Given the description of an element on the screen output the (x, y) to click on. 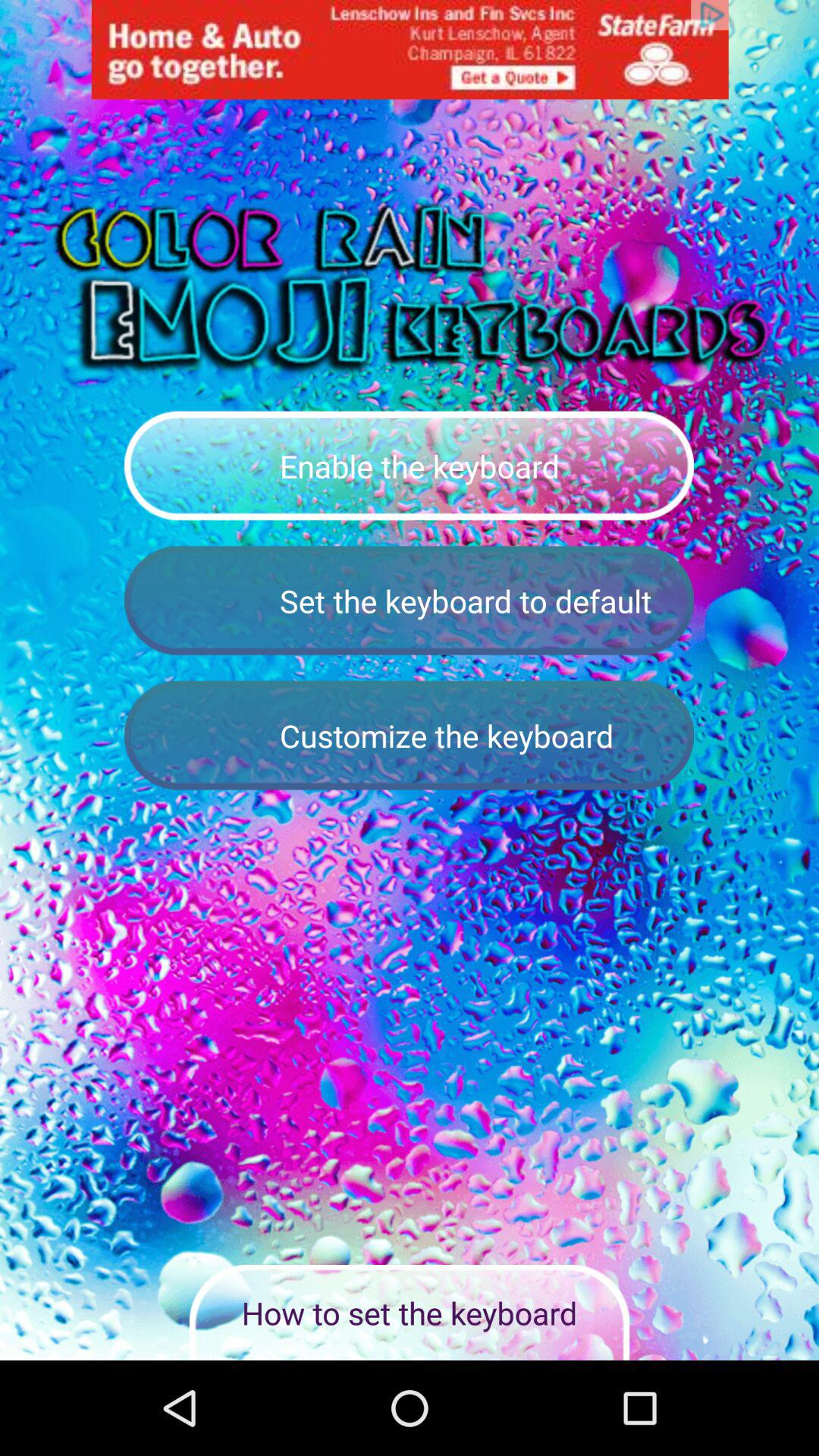
go to advertisement (409, 49)
